Given the description of an element on the screen output the (x, y) to click on. 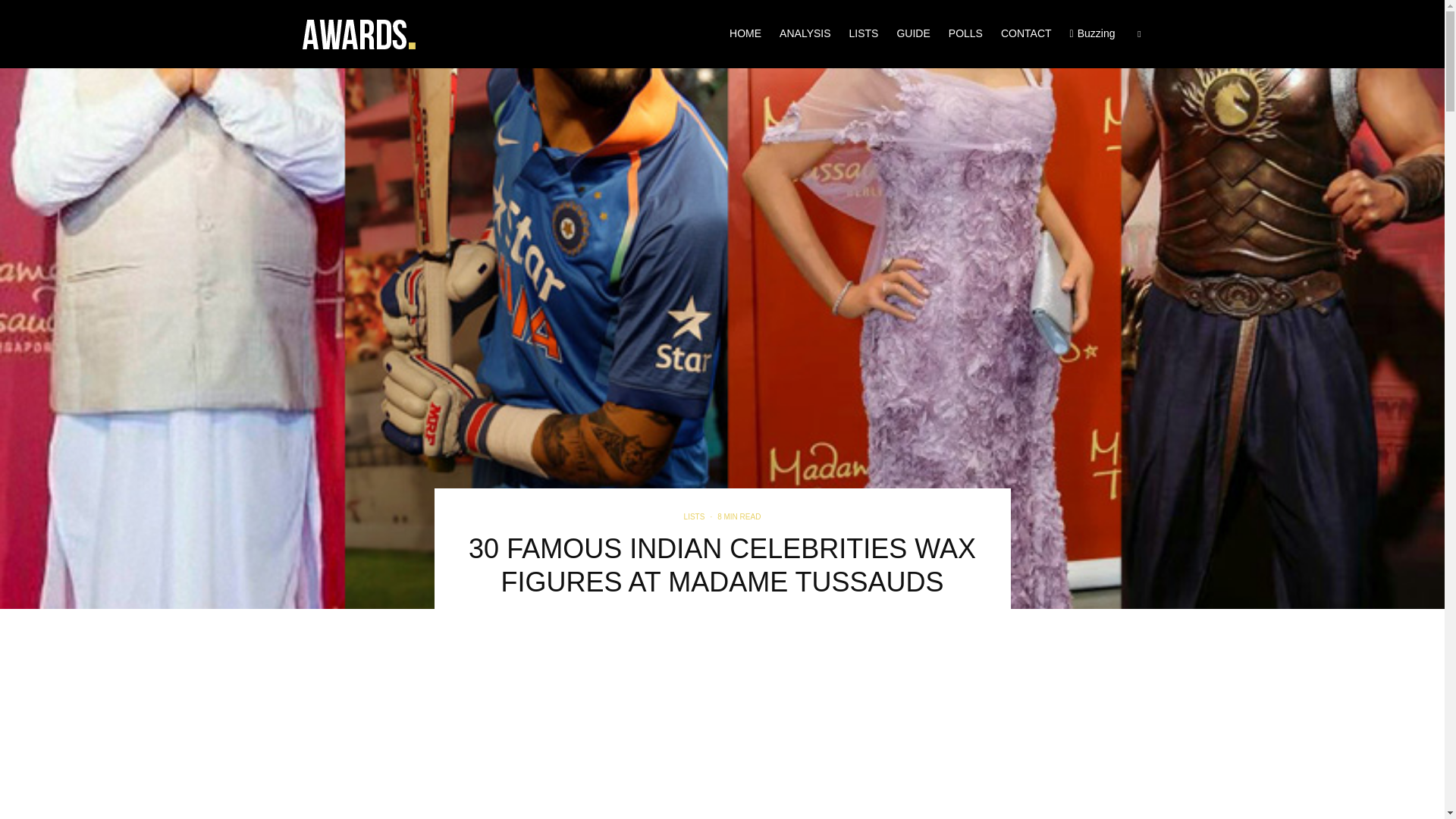
Buzzing (1092, 33)
ANALYSIS (805, 33)
LISTS (694, 517)
CONTACT (1026, 33)
